Given the description of an element on the screen output the (x, y) to click on. 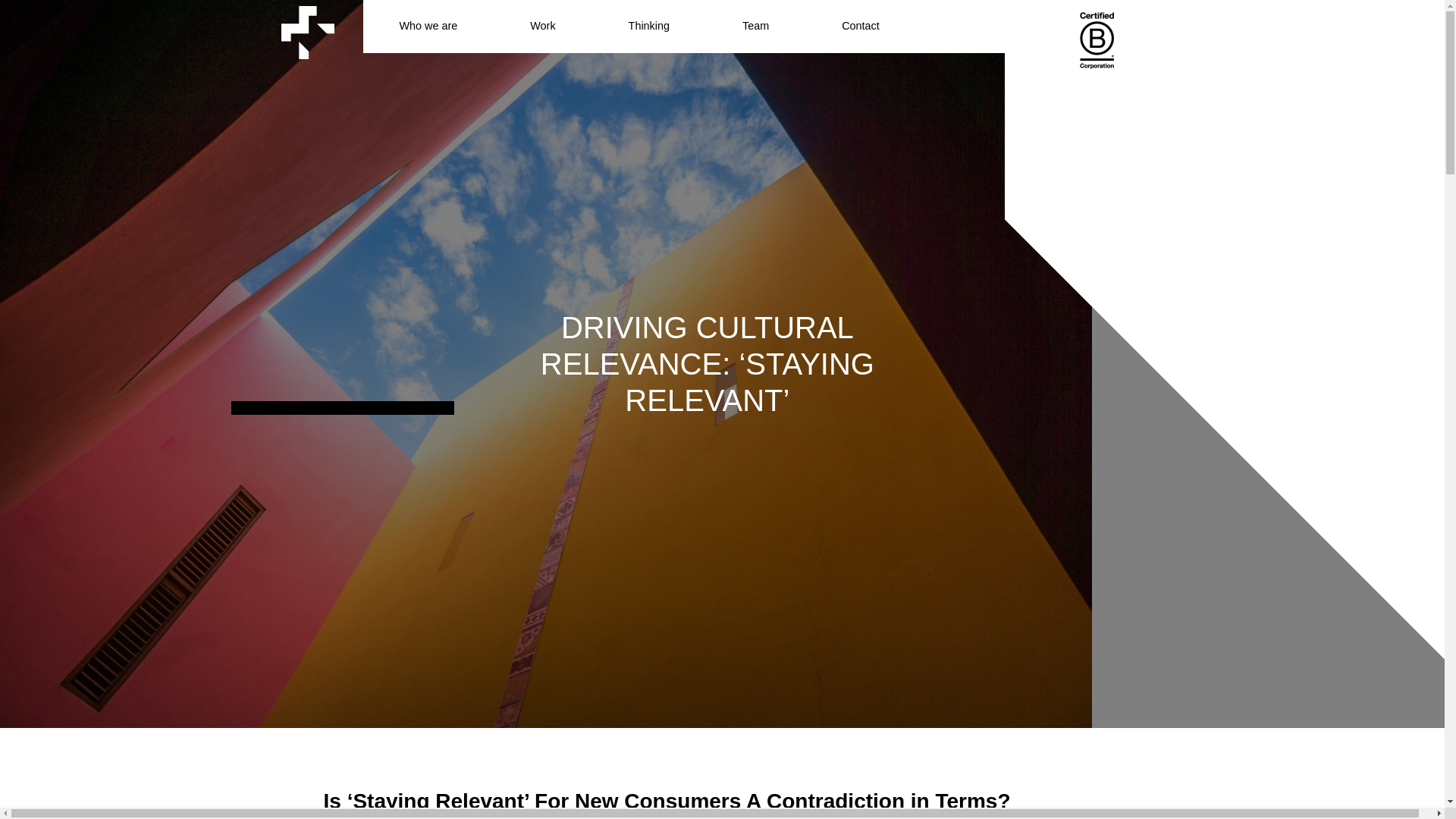
Team (755, 26)
Thinking (648, 26)
header-logo (307, 31)
Who we are (427, 26)
Contact (860, 26)
